Given the description of an element on the screen output the (x, y) to click on. 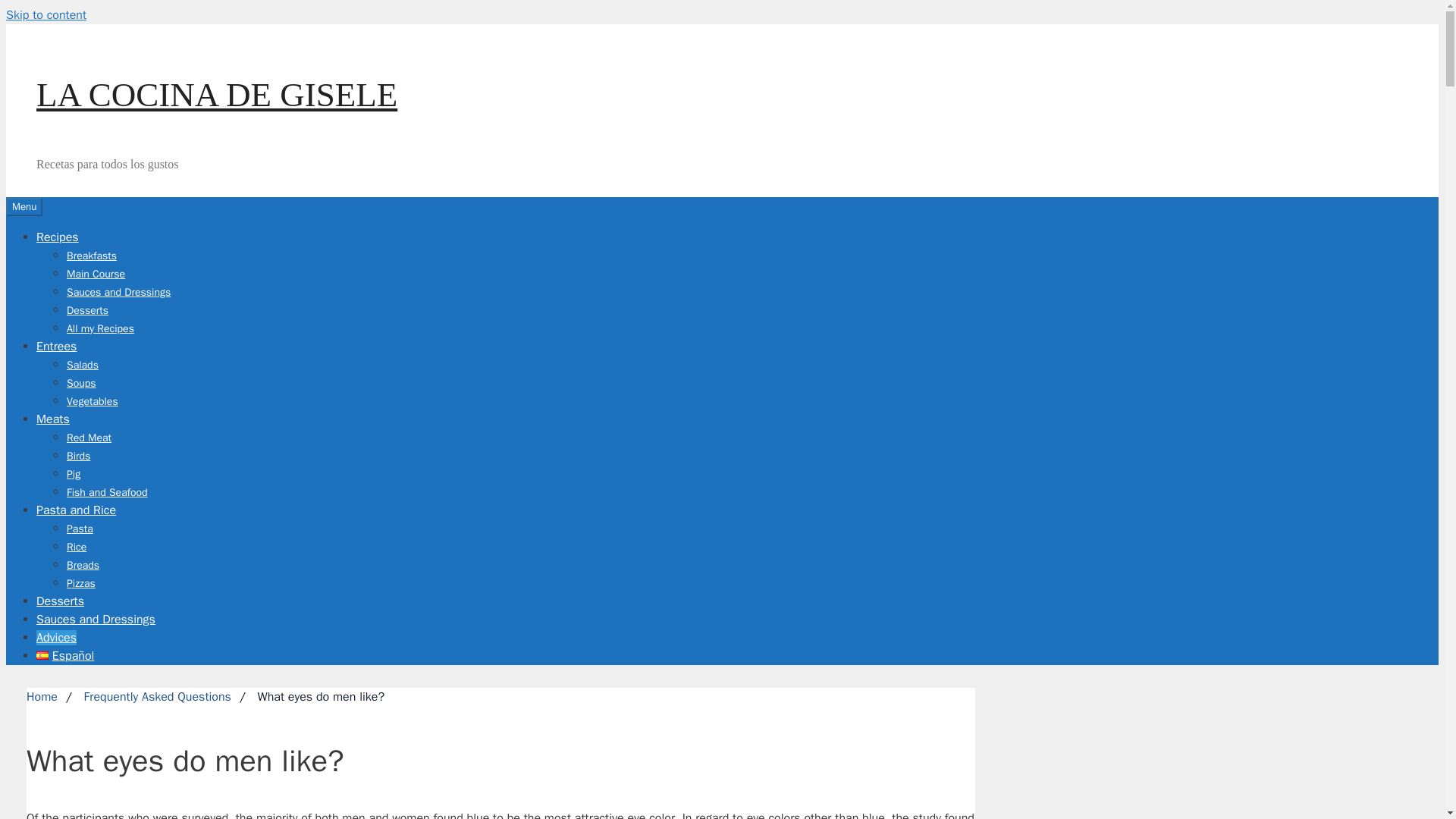
Desserts (86, 309)
All my Recipes (99, 327)
Desserts (60, 600)
Pasta and Rice (76, 509)
Pasta (79, 527)
Rice (75, 545)
Recipes (57, 236)
Vegetables (91, 400)
LA COCINA DE GISELE (216, 94)
Sauces and Dressings (118, 291)
